Given the description of an element on the screen output the (x, y) to click on. 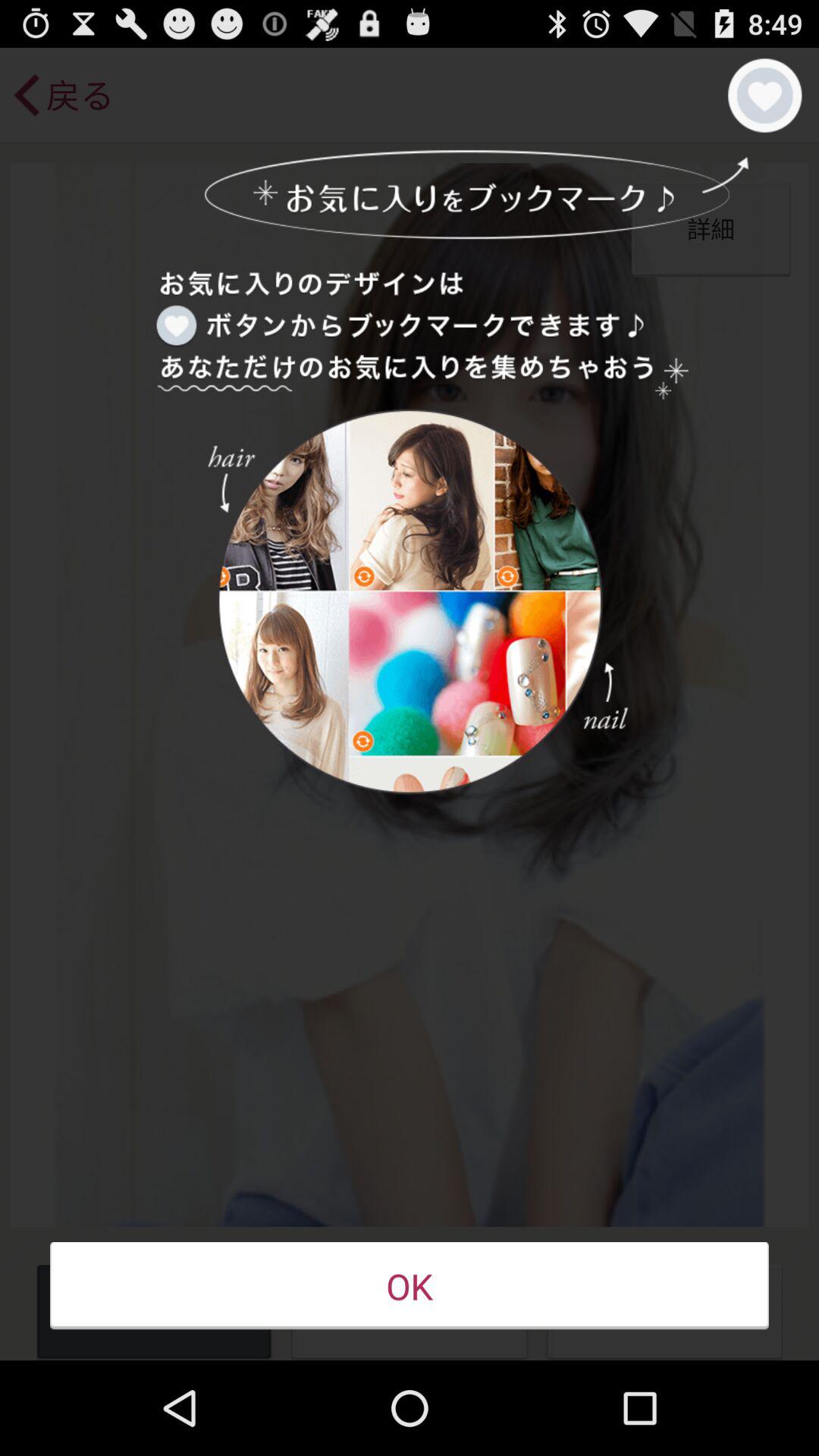
tap button at the bottom (409, 1286)
